Given the description of an element on the screen output the (x, y) to click on. 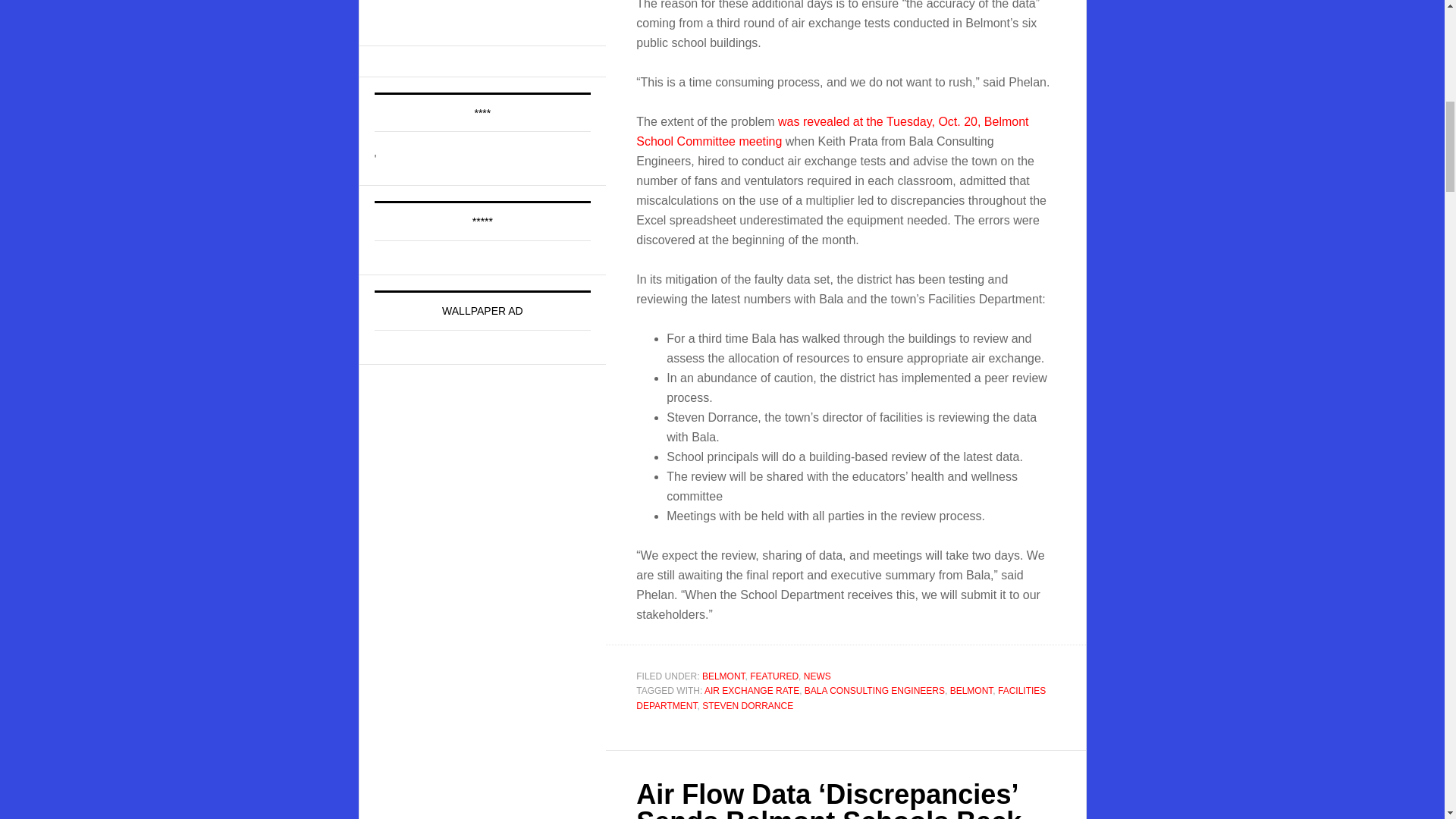
Advertisement (488, 12)
AIR EXCHANGE RATE (751, 690)
FEATURED (773, 675)
STEVEN DORRANCE (747, 706)
BELMONT (971, 690)
BELMONT (723, 675)
NEWS (817, 675)
BALA CONSULTING ENGINEERS (874, 690)
FACILITIES DEPARTMENT (840, 698)
